Given the description of an element on the screen output the (x, y) to click on. 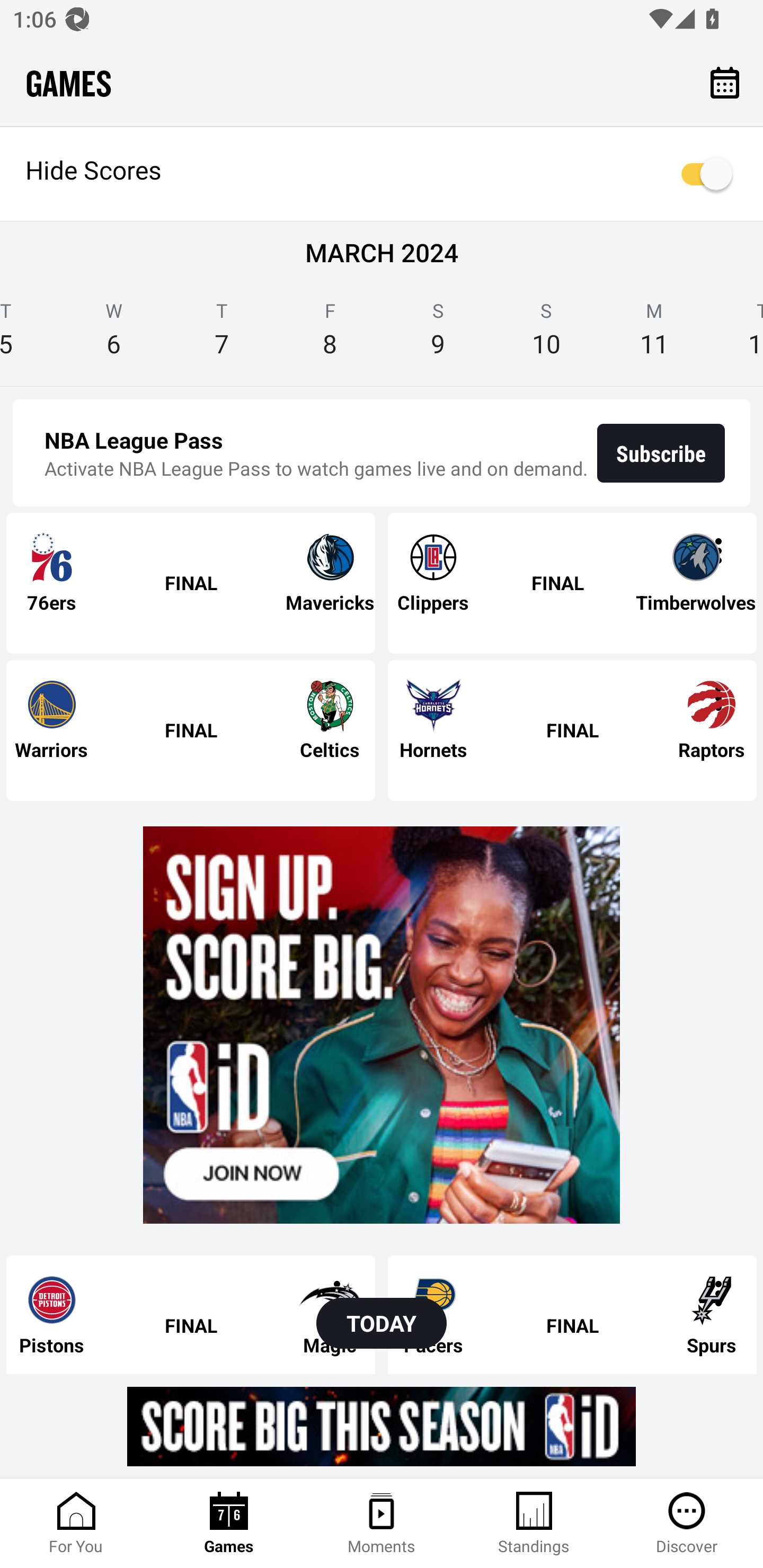
Calendar (724, 81)
Hide Scores (381, 174)
W 6 (113, 334)
T 7 (221, 334)
F 8 (330, 334)
S 9 (437, 334)
S 10 (546, 334)
M 11 (654, 334)
Subscribe (660, 452)
Post Game - Pistons at Magic Pistons FINAL Magic (190, 1314)
Post Game - Pacers at Spurs Pacers FINAL Spurs (571, 1314)
TODAY (381, 1323)
For You (76, 1523)
Moments (381, 1523)
Standings (533, 1523)
Discover (686, 1523)
